Given the description of an element on the screen output the (x, y) to click on. 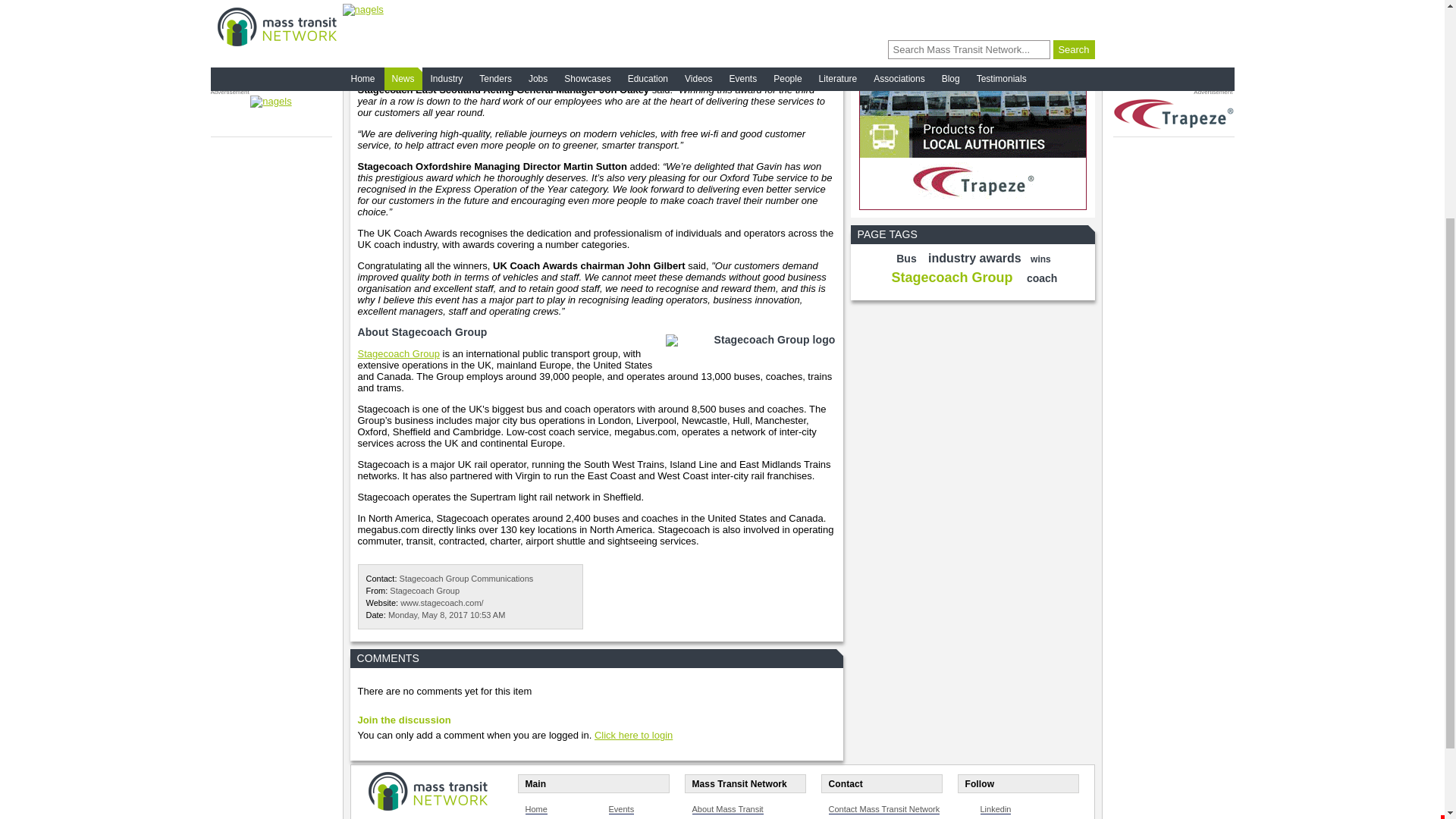
Stagecoach Group (398, 353)
Bus (906, 258)
View profile of Stagecoach Group (425, 590)
Stagecoach Group (425, 590)
industry awards (974, 257)
Home (535, 809)
Add news yourself (972, 2)
Go to Stagecoach Group info (398, 353)
View website of Stagecoach Group (441, 602)
wins (1040, 258)
Stagecoach Group logo (746, 346)
Stagecoach Group Communications (466, 578)
Click here to login (633, 735)
Mass Transit Network (427, 789)
Click here to login (633, 735)
